Given the description of an element on the screen output the (x, y) to click on. 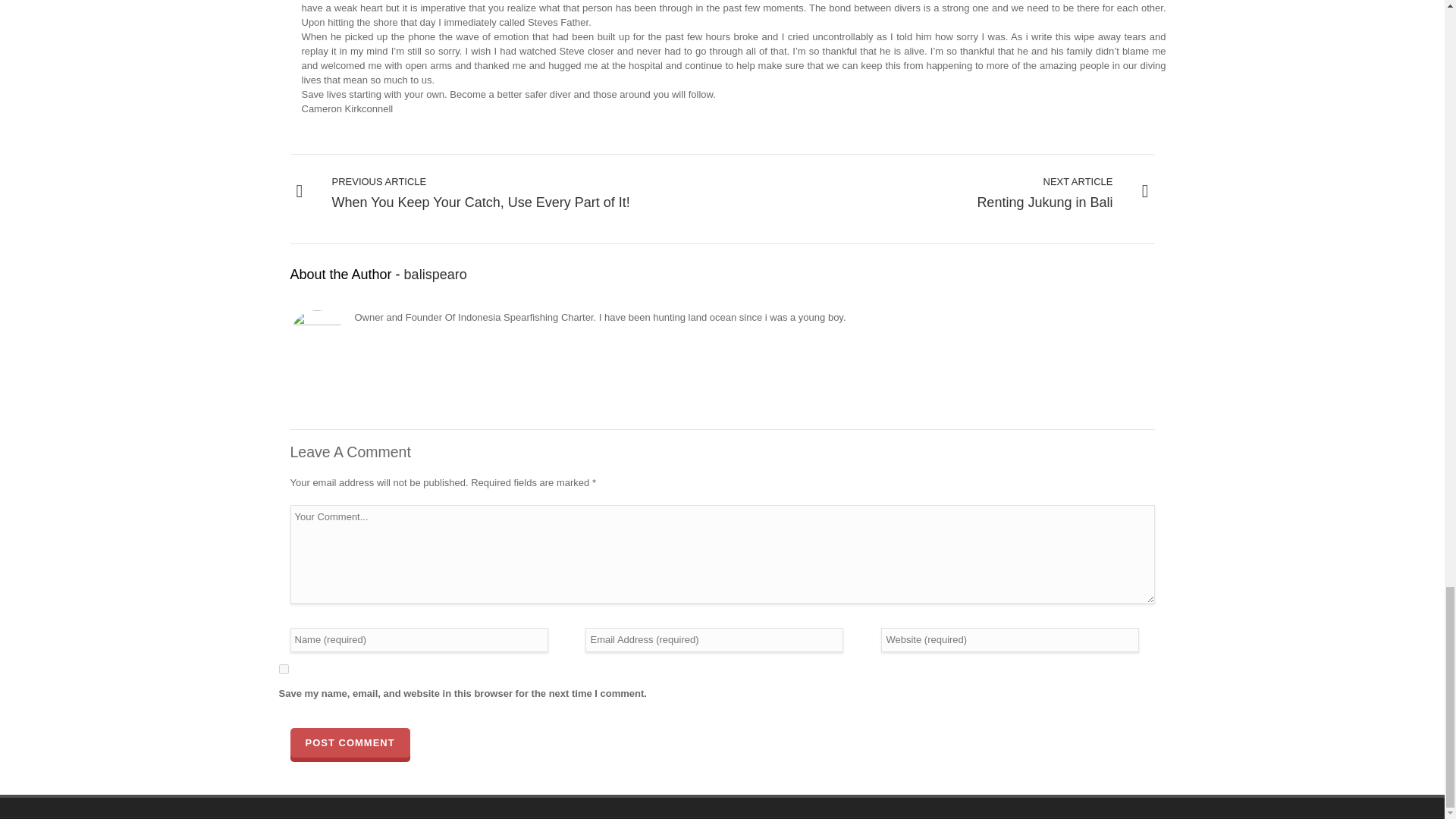
Posts by balispearo (435, 273)
Post Comment (349, 742)
balispearo (435, 273)
yes (283, 669)
Post Comment (349, 742)
